Given the description of an element on the screen output the (x, y) to click on. 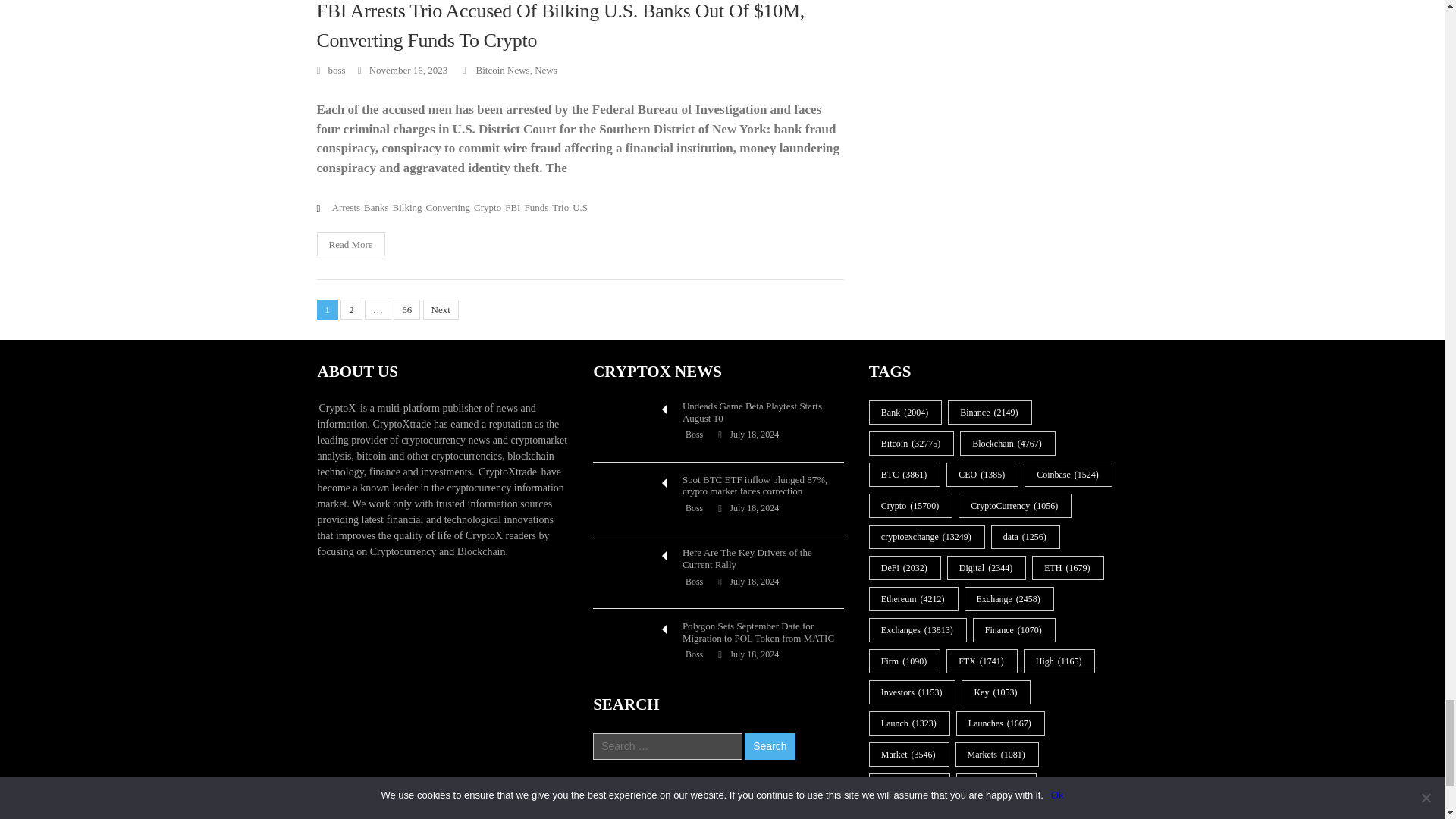
Undeads Game Beta Playtest Starts August 10 (630, 425)
Search (769, 746)
Search (769, 746)
Undeads Game Beta Playtest Starts August 10 (630, 425)
